Given the description of an element on the screen output the (x, y) to click on. 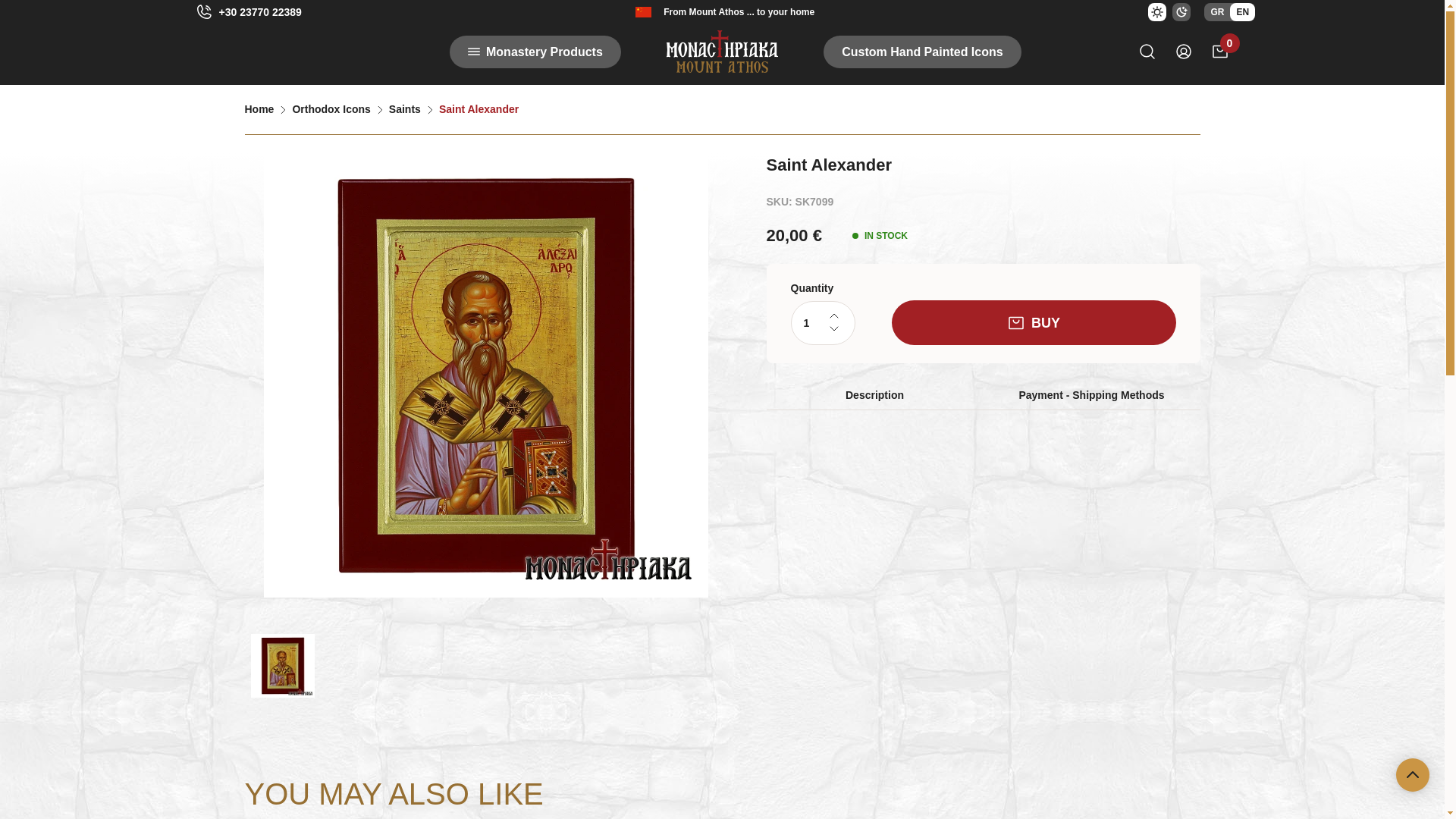
0 (1218, 51)
Orthodox Icons (330, 109)
GR (1217, 12)
BUY (1033, 322)
Custom Hand Painted Icons (922, 51)
EN (1242, 12)
Home (258, 109)
Monastery Products (535, 51)
Saints (404, 109)
1 (822, 322)
